Given the description of an element on the screen output the (x, y) to click on. 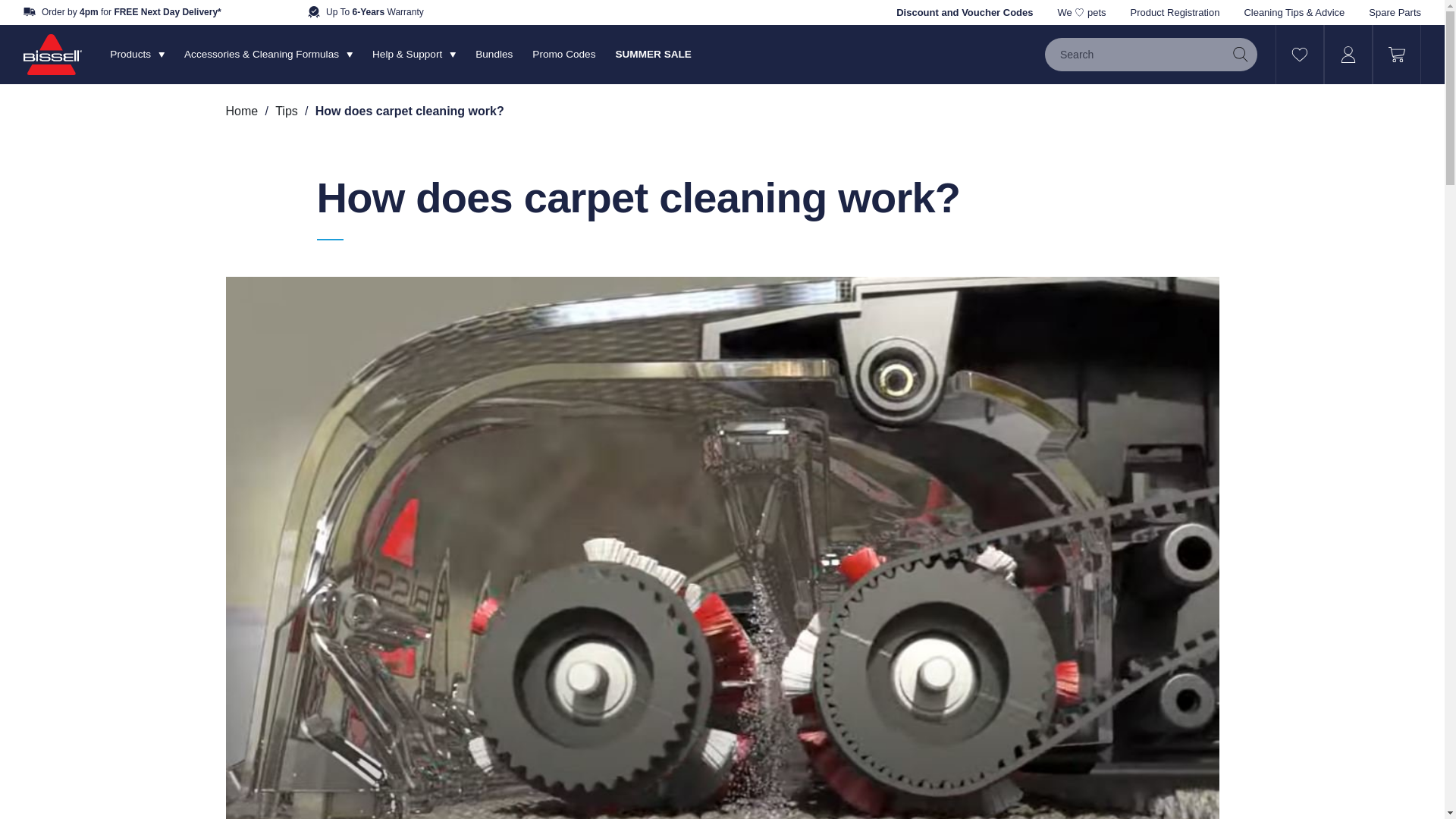
Discount and Voucher Codes (964, 12)
Product Registration (1175, 12)
Products (137, 54)
Go to Home Page (242, 110)
Spare Parts (1394, 12)
Search (1240, 54)
Tips (286, 110)
